Given the description of an element on the screen output the (x, y) to click on. 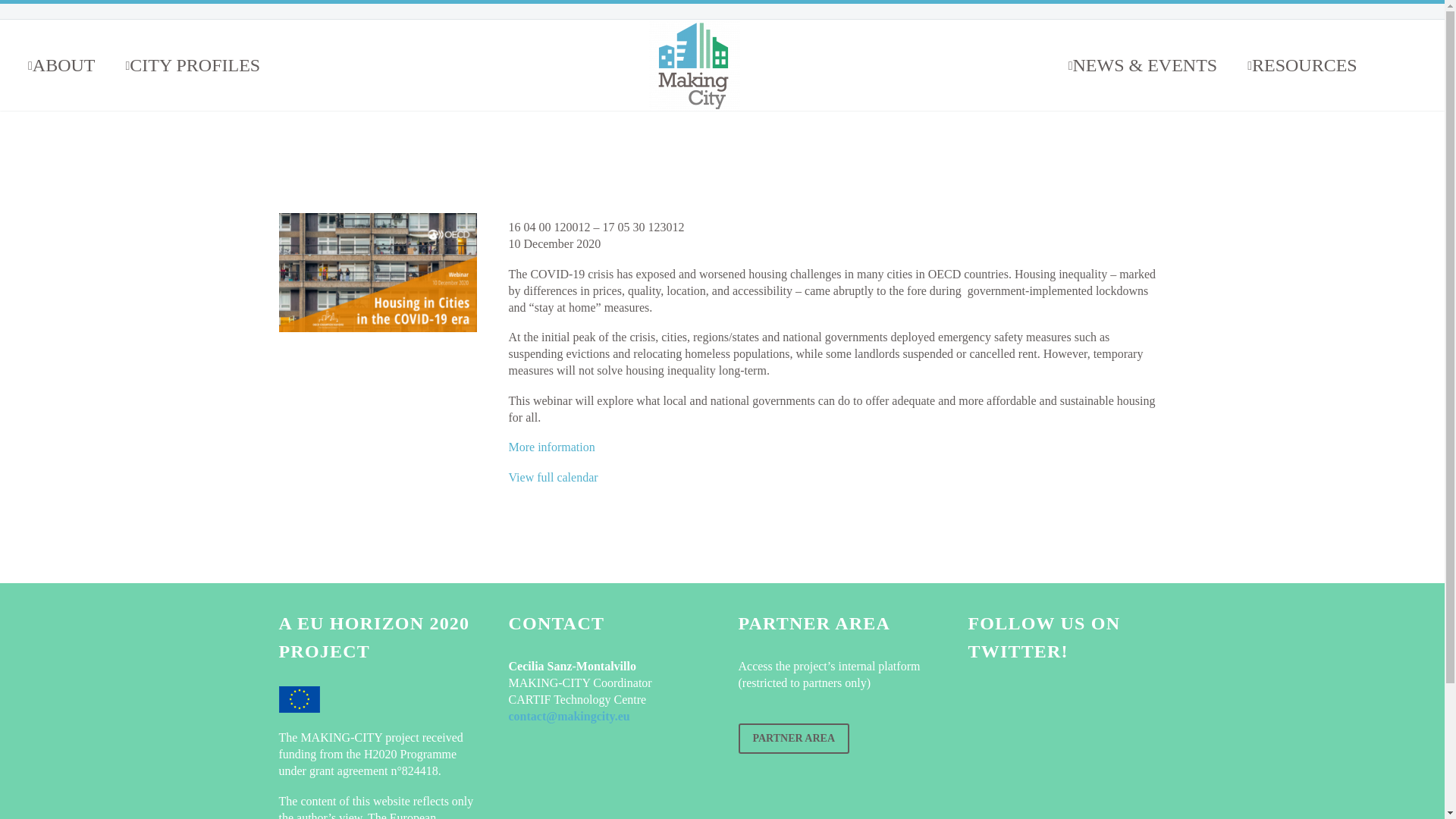
More information (551, 446)
View full calendar (552, 477)
RESOURCES (1302, 64)
PARTNER AREA (794, 738)
Partner area (794, 738)
Resources (1302, 64)
ABOUT (61, 64)
CITY PROFILES (193, 64)
